Given the description of an element on the screen output the (x, y) to click on. 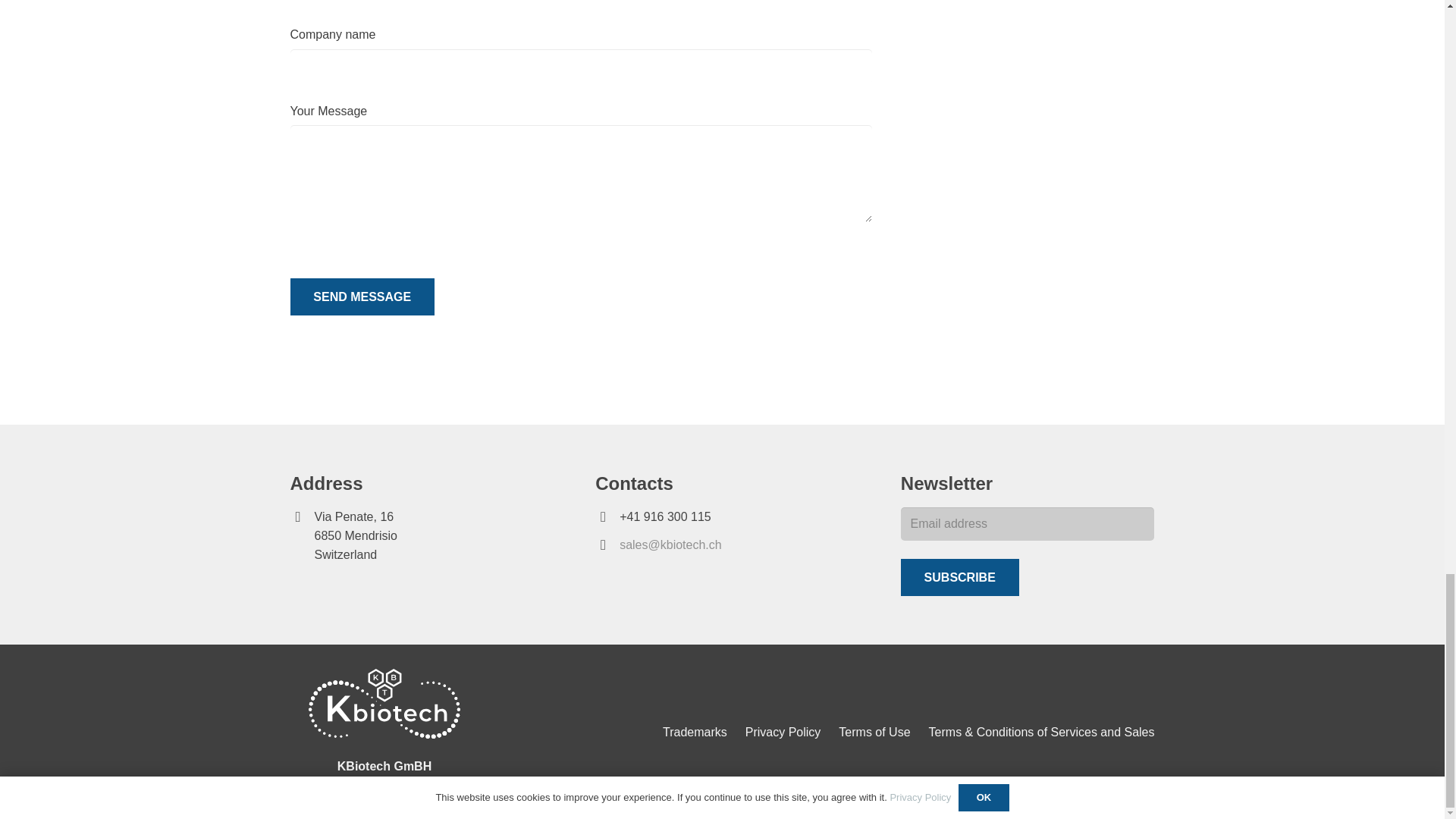
Send Message (361, 296)
Send Message (361, 296)
Subscribe (960, 577)
